Given the description of an element on the screen output the (x, y) to click on. 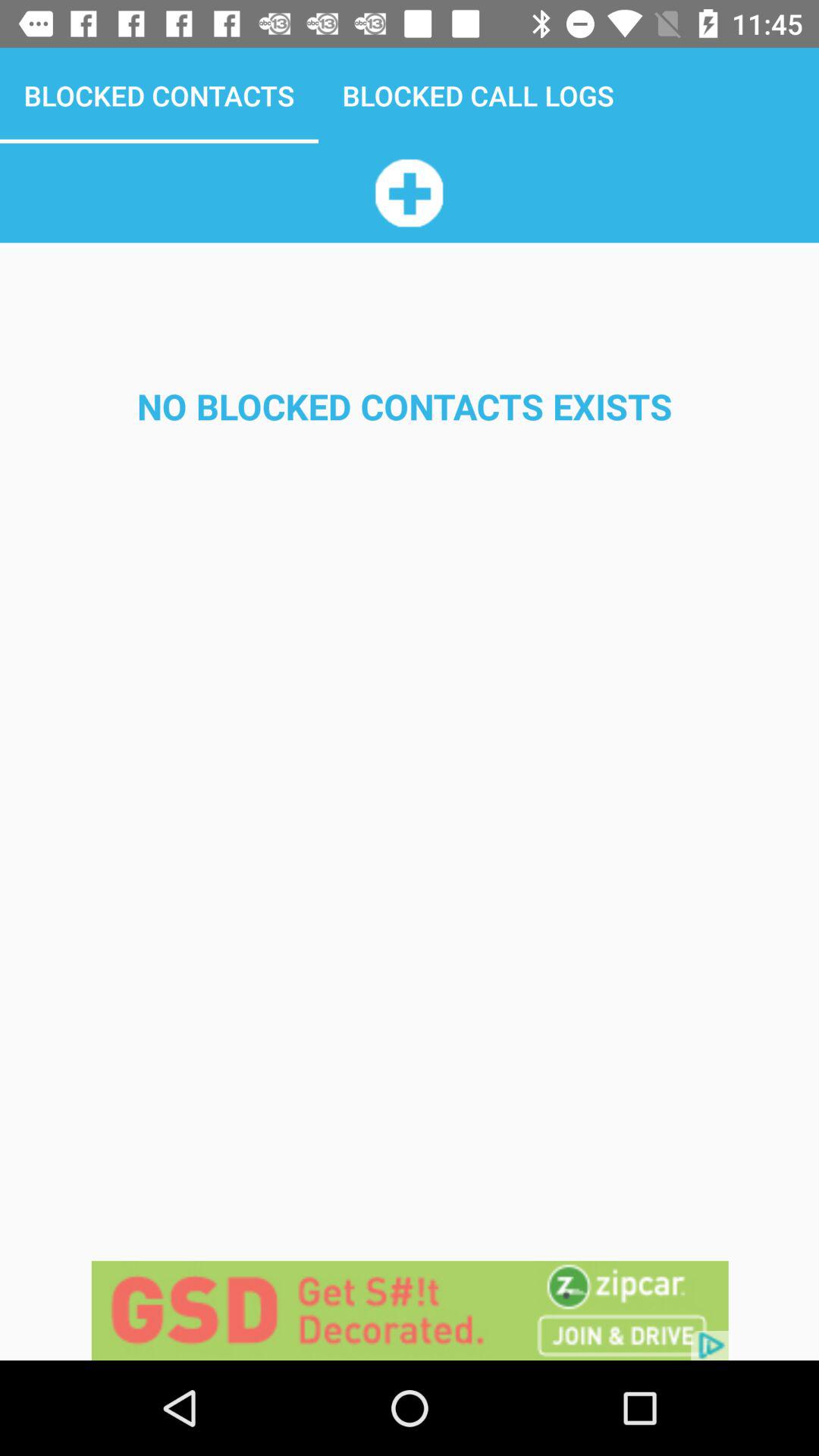
advertisement account (409, 193)
